Given the description of an element on the screen output the (x, y) to click on. 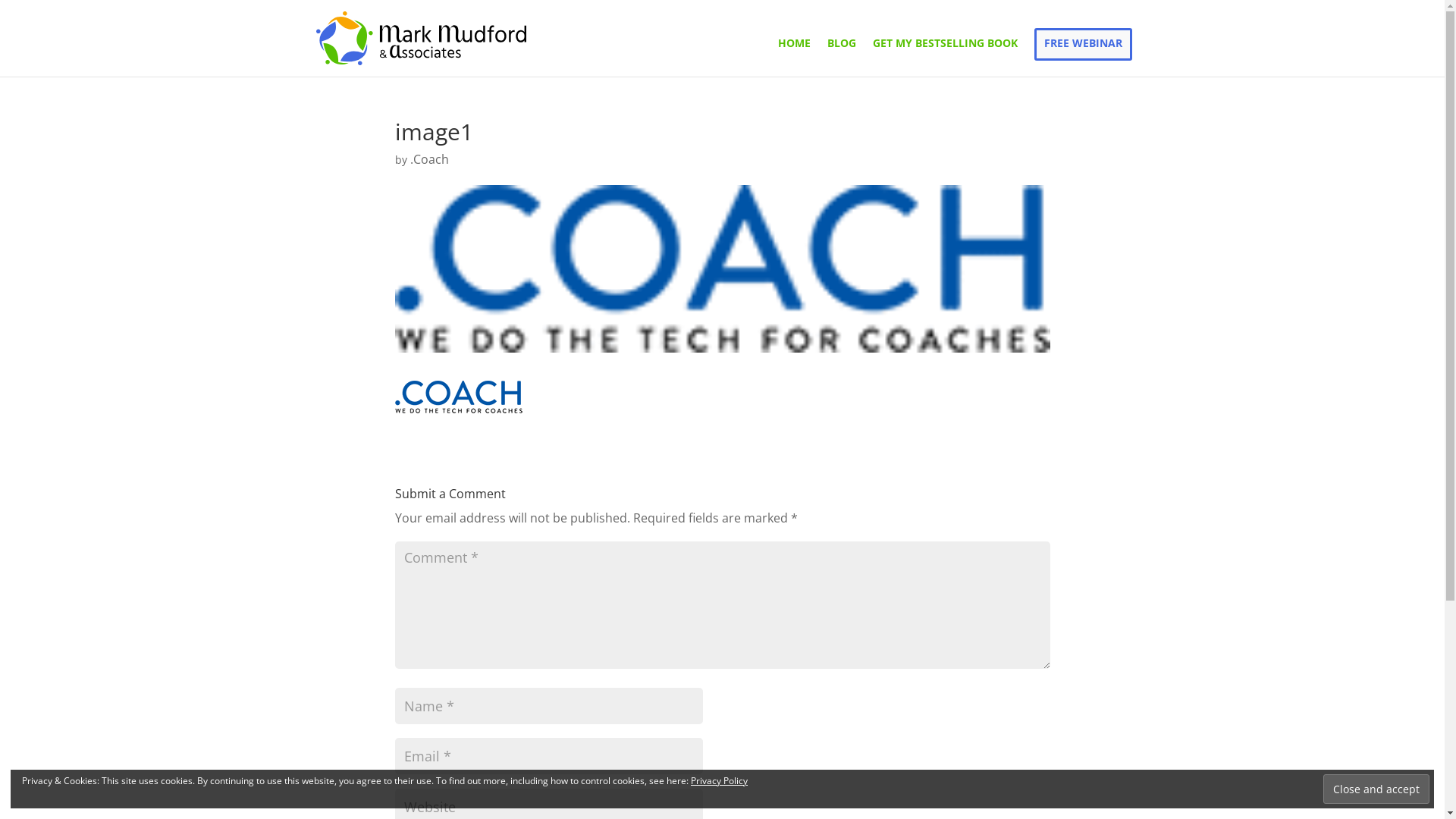
Privacy Policy Element type: text (718, 780)
HOME Element type: text (794, 56)
GET MY BESTSELLING BOOK Element type: text (944, 56)
FREE WEBINAR Element type: text (1082, 42)
Close and accept Element type: text (1376, 788)
.Coach Element type: text (428, 158)
BLOG Element type: text (840, 56)
